Given the description of an element on the screen output the (x, y) to click on. 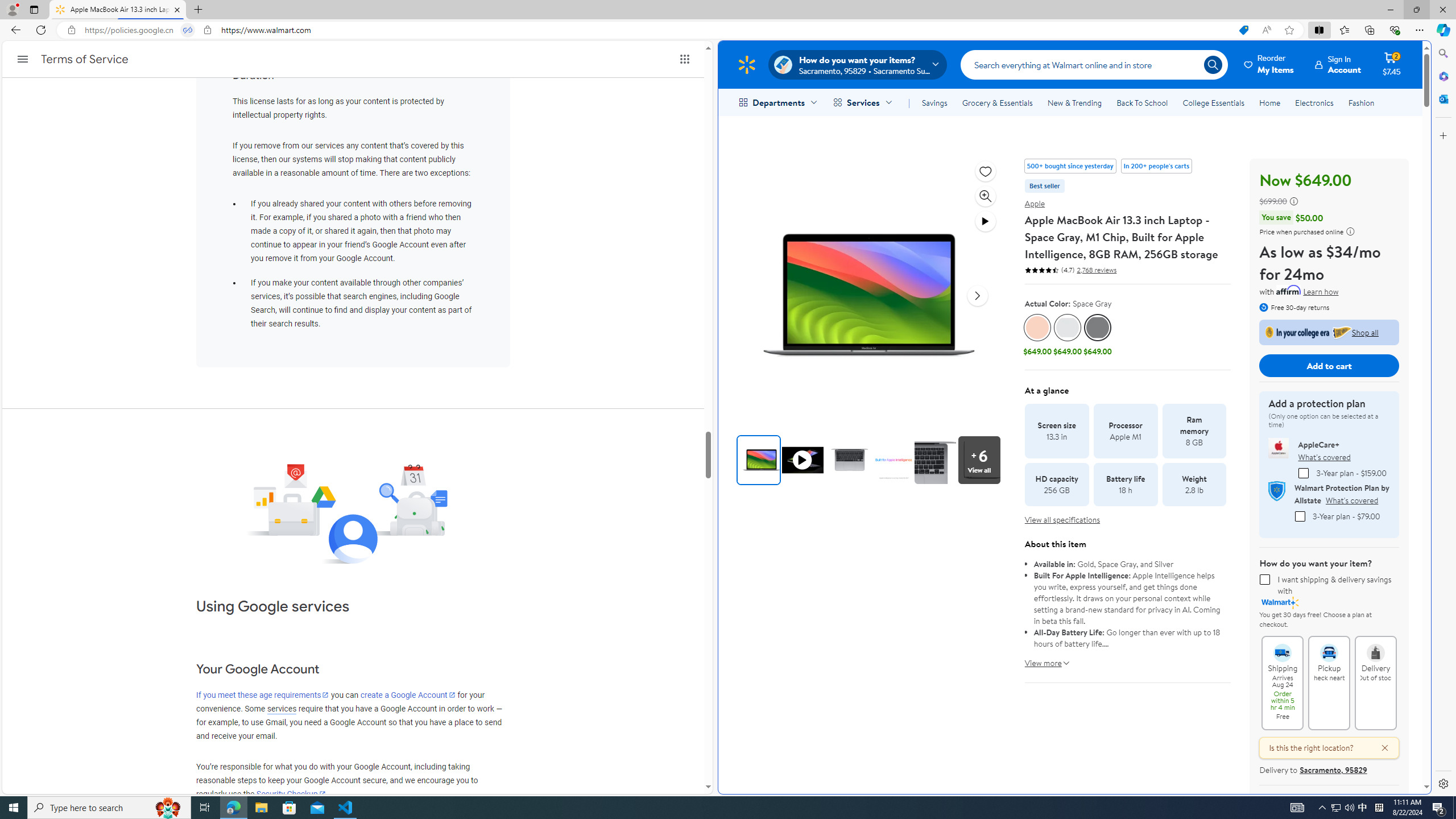
Gold (1037, 327)
View all media (979, 459)
View all specifications (1062, 520)
New & Trending (1075, 102)
Silver, $649.00 (1067, 335)
Home (1269, 102)
legal information (1350, 230)
Back to College (1329, 332)
Pickup Check nearby (1328, 647)
Reorder My Items (1269, 64)
ReorderMy Items (1269, 64)
